Given the description of an element on the screen output the (x, y) to click on. 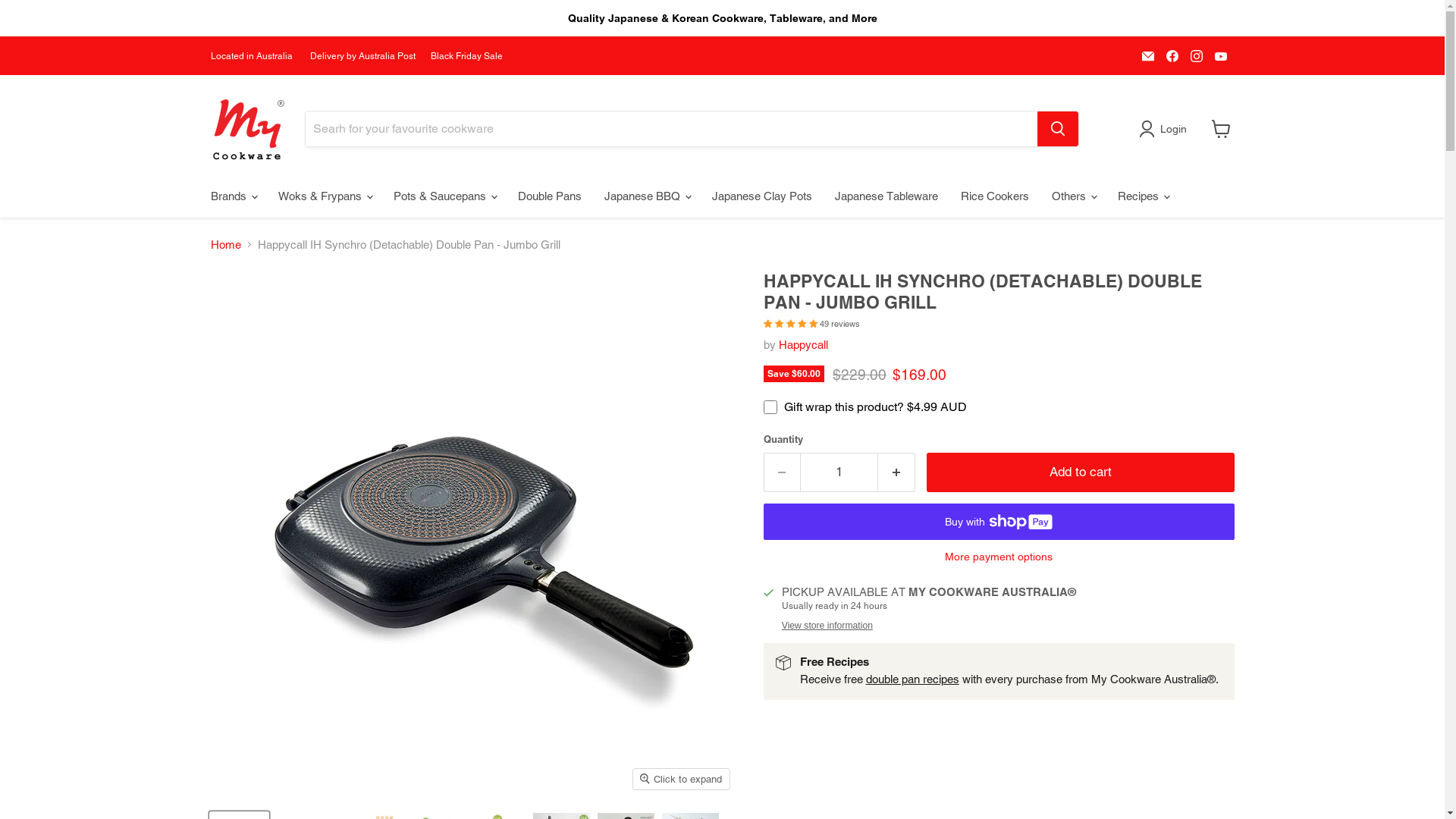
Add to cart Element type: text (1080, 471)
Happycall Element type: text (802, 344)
View store information Element type: text (826, 625)
Rice Cookers Element type: text (994, 195)
Double Pans Element type: text (549, 195)
More payment options Element type: text (997, 556)
Delivery by Australia Post Element type: text (361, 55)
Find us on Facebook Element type: text (1172, 55)
Find us on YouTube Element type: text (1220, 55)
double pan recipes Element type: text (912, 678)
Japanese Clay Pots Element type: text (761, 195)
View cart Element type: text (1221, 128)
Home Element type: text (225, 244)
Find us on Instagram Element type: text (1196, 55)
Black Friday Sale Element type: text (466, 55)
Japanese Tableware Element type: text (886, 195)
Click to expand Element type: text (680, 778)
Located in Australia Element type: text (252, 55)
Login Element type: text (1165, 128)
